Given the description of an element on the screen output the (x, y) to click on. 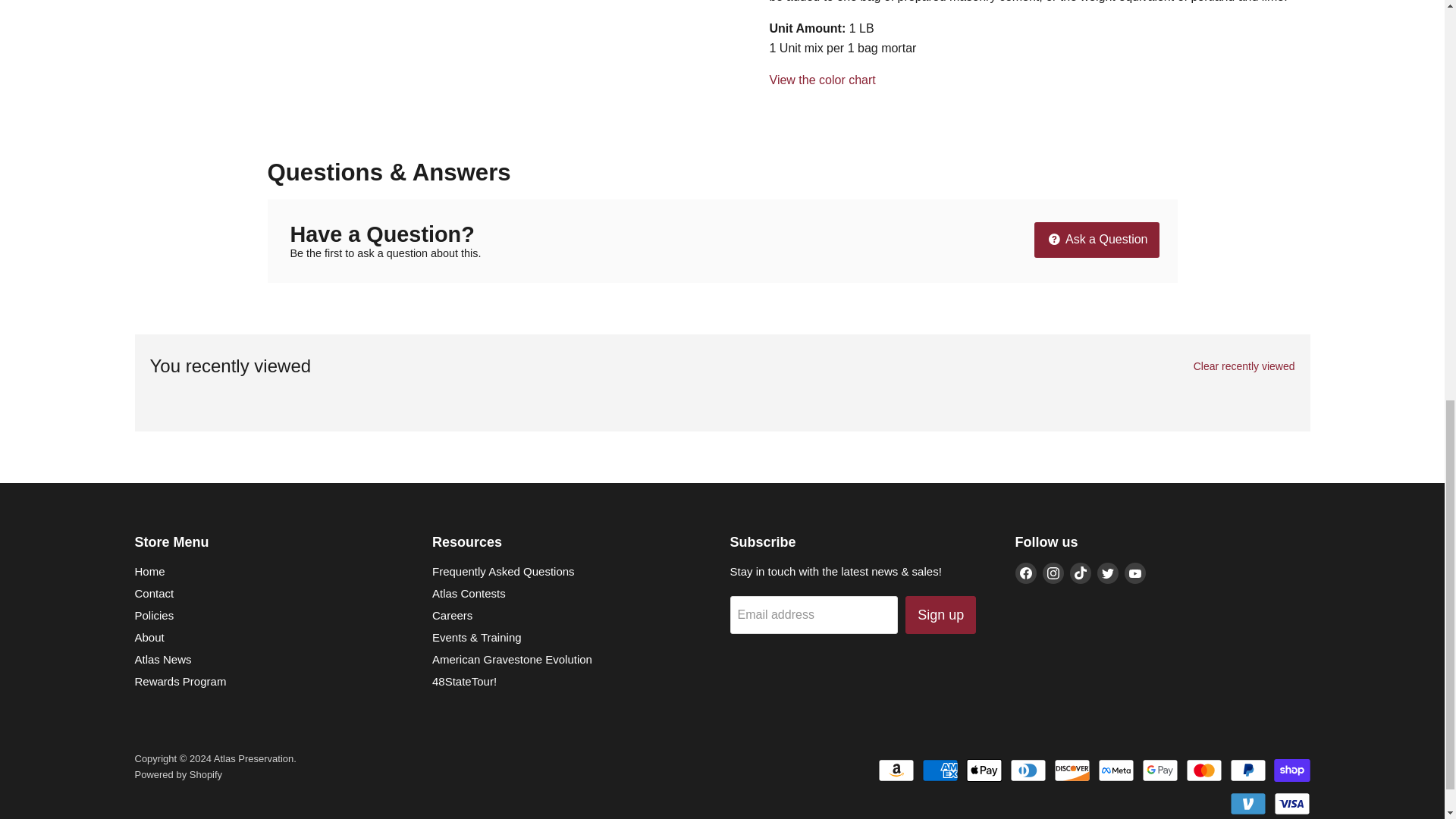
Facebook (1024, 572)
TikTok (1079, 572)
American Express (939, 770)
YouTube (1134, 572)
Instagram (1052, 572)
Apple Pay (984, 770)
Amazon (895, 770)
Twitter (1107, 572)
